Given the description of an element on the screen output the (x, y) to click on. 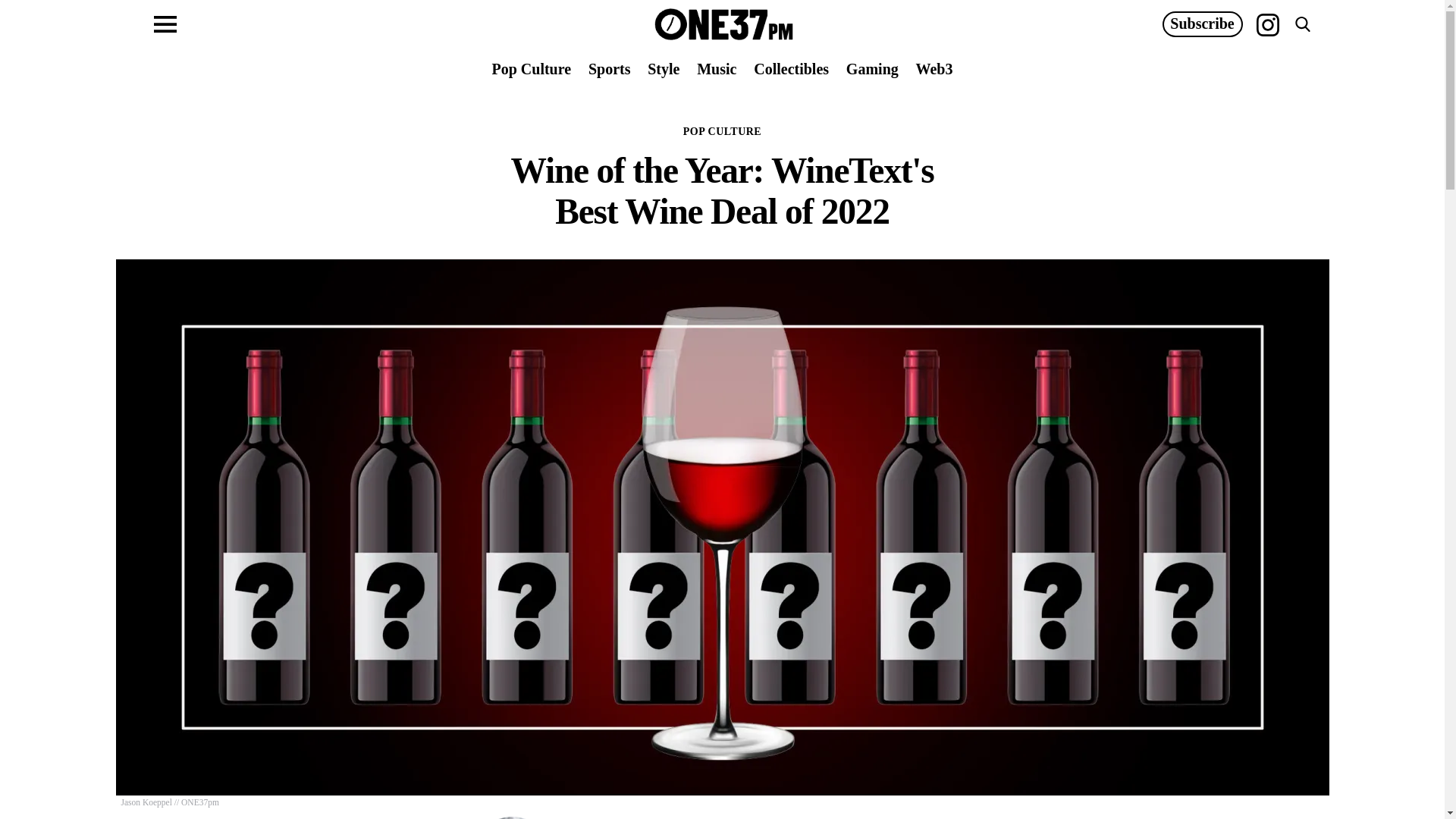
Subscribe (1201, 23)
Web3 (934, 68)
POP CULTURE (721, 131)
Style (663, 68)
Sports (609, 68)
Music (716, 68)
Gaming (871, 68)
Collectibles (791, 68)
Pop Culture (531, 68)
ONE37pm (723, 24)
